Given the description of an element on the screen output the (x, y) to click on. 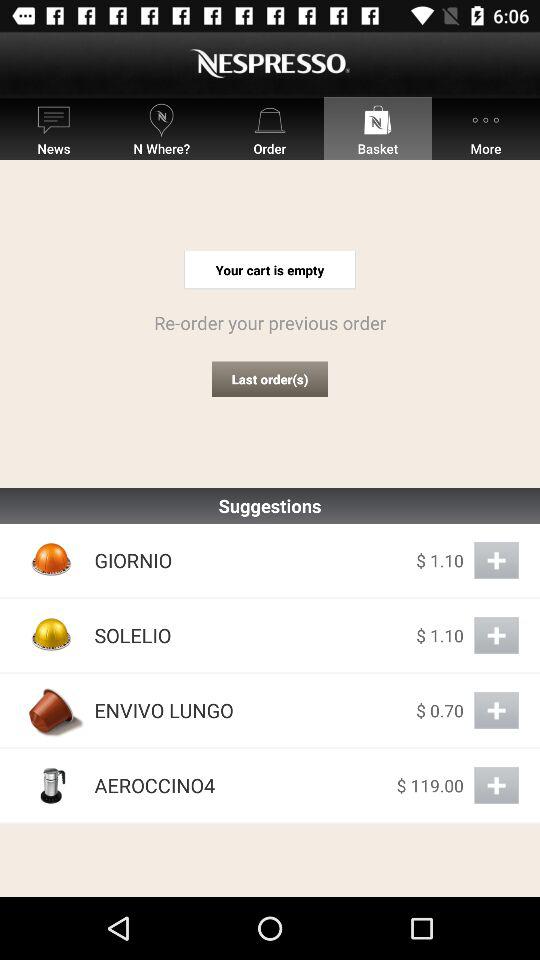
add option (496, 785)
